Given the description of an element on the screen output the (x, y) to click on. 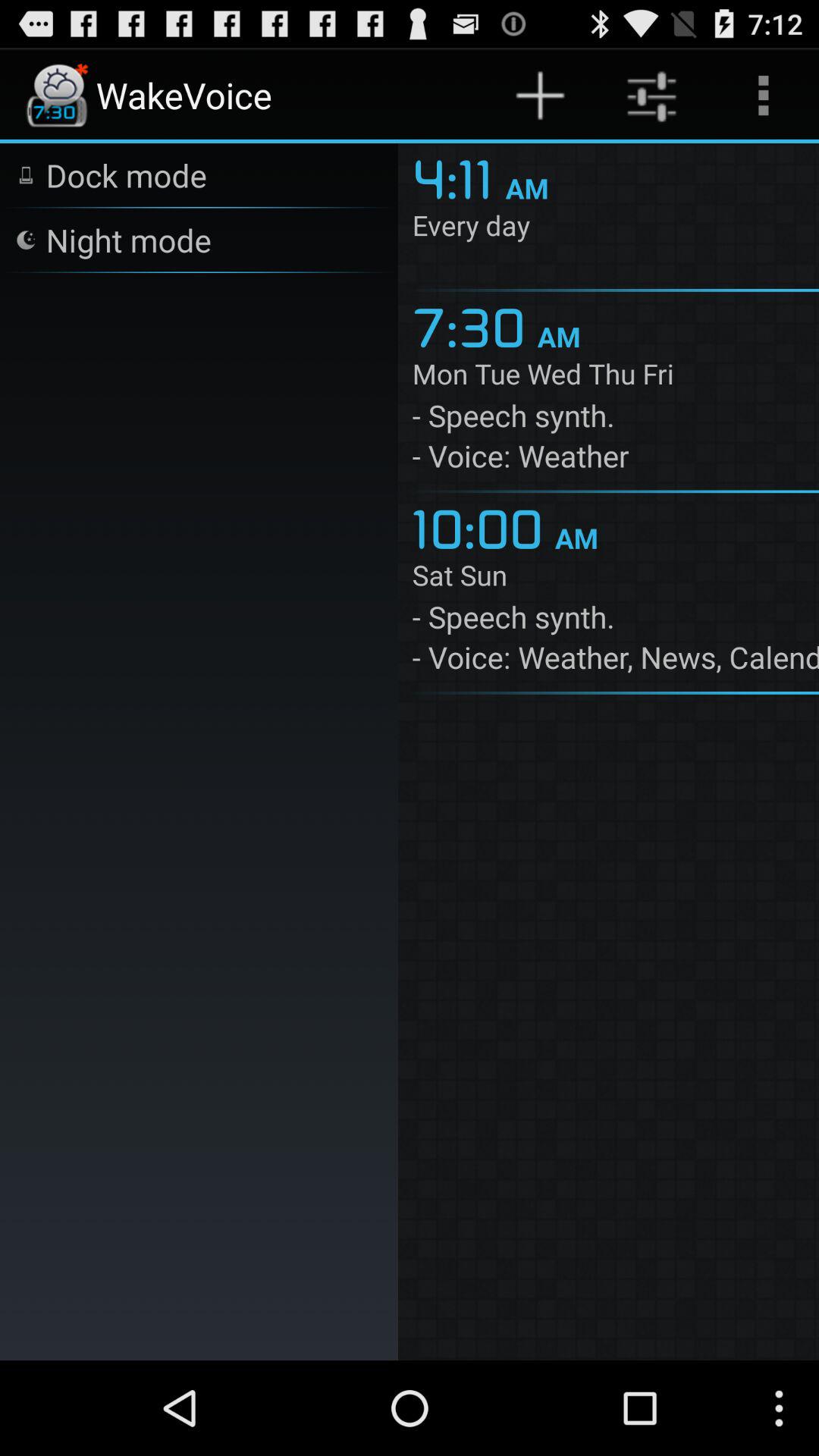
open the app above the every day item (458, 176)
